Given the description of an element on the screen output the (x, y) to click on. 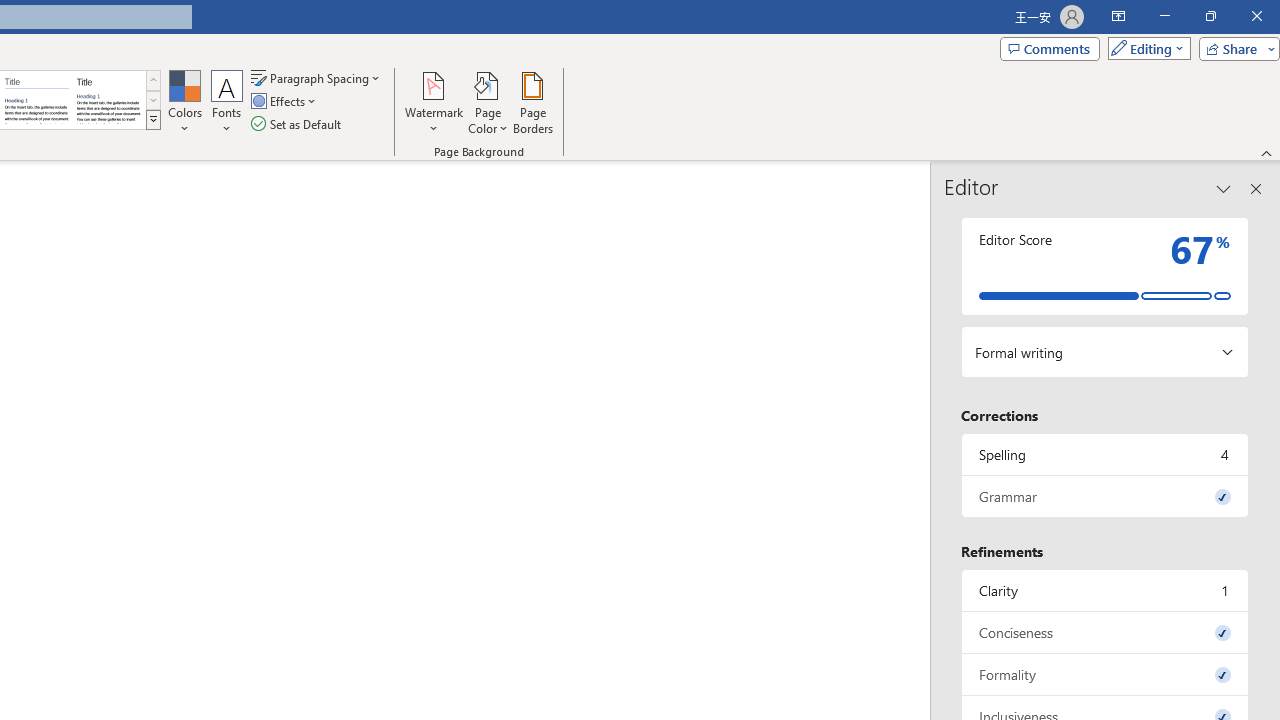
Fonts (227, 102)
Watermark (434, 102)
Formality, 0 issues. Press space or enter to review items. (1105, 673)
Conciseness, 0 issues. Press space or enter to review items. (1105, 632)
Spelling, 4 issues. Press space or enter to review items. (1105, 454)
Set as Default (298, 124)
Clarity, 1 issue. Press space or enter to review items. (1105, 590)
Page Color (487, 102)
Effects (285, 101)
Style Set (153, 120)
